Given the description of an element on the screen output the (x, y) to click on. 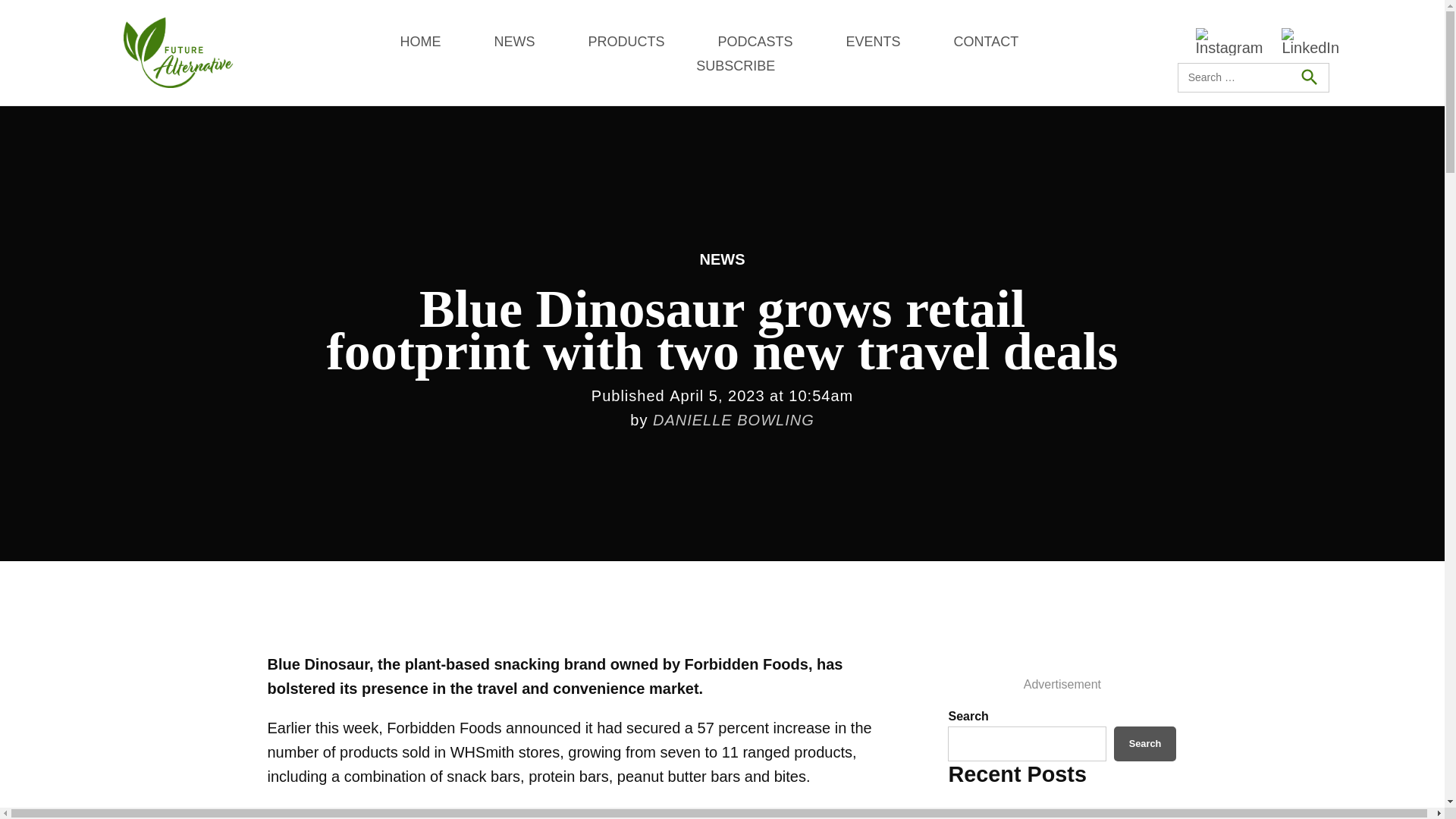
POSTS BY DANIELLE BOWLING (732, 419)
PODCASTS (754, 40)
PRODUCTS (625, 40)
NEWS (721, 258)
HOME (419, 40)
EVENTS (872, 40)
SUBSCRIBE (734, 64)
Search (1308, 77)
NEWS (513, 40)
Search (1144, 743)
DANIELLE BOWLING (732, 419)
CONTACT (986, 40)
